Given the description of an element on the screen output the (x, y) to click on. 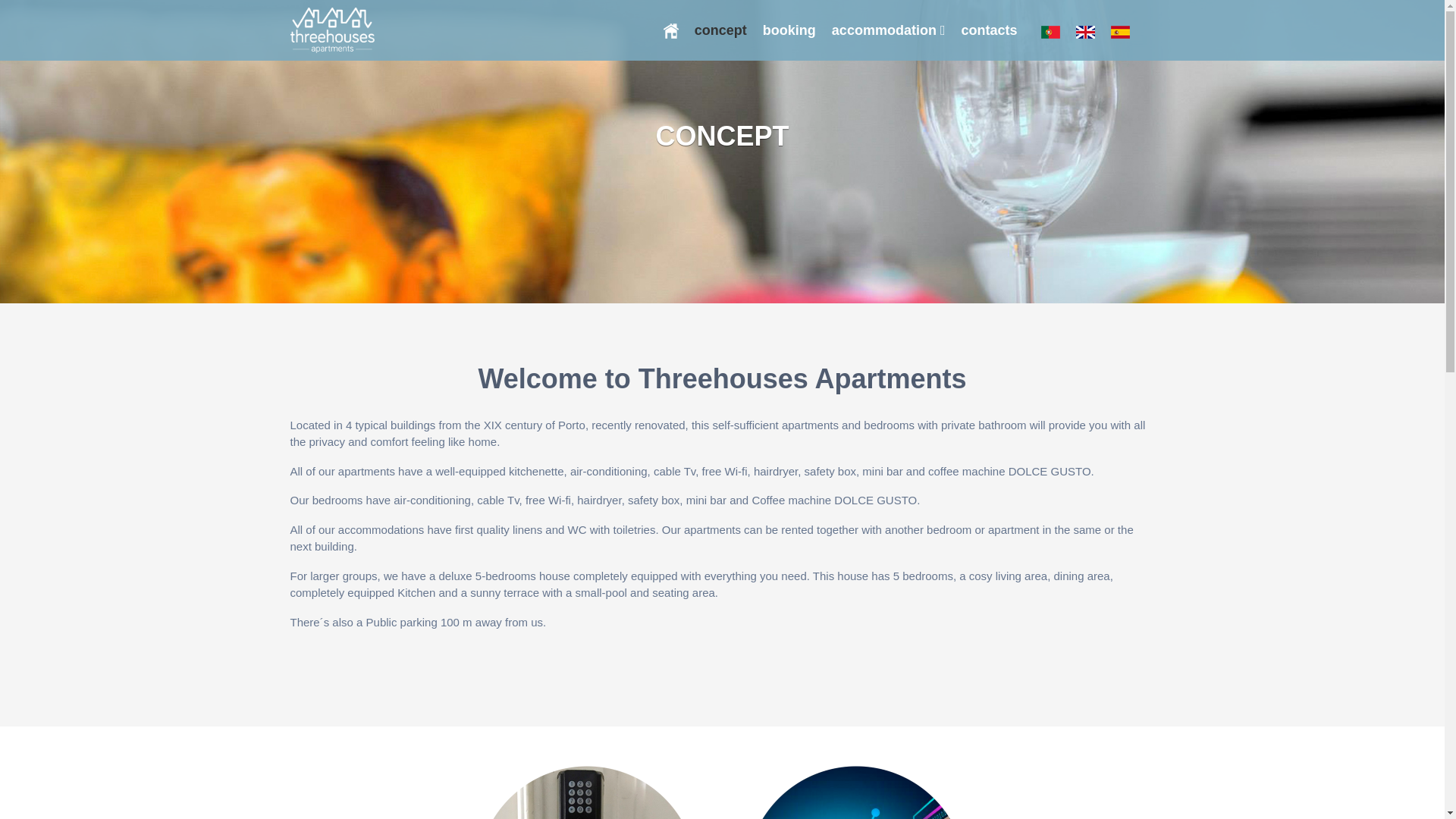
concept (721, 30)
accommodation (888, 30)
booking (789, 30)
contacts (988, 30)
